Given the description of an element on the screen output the (x, y) to click on. 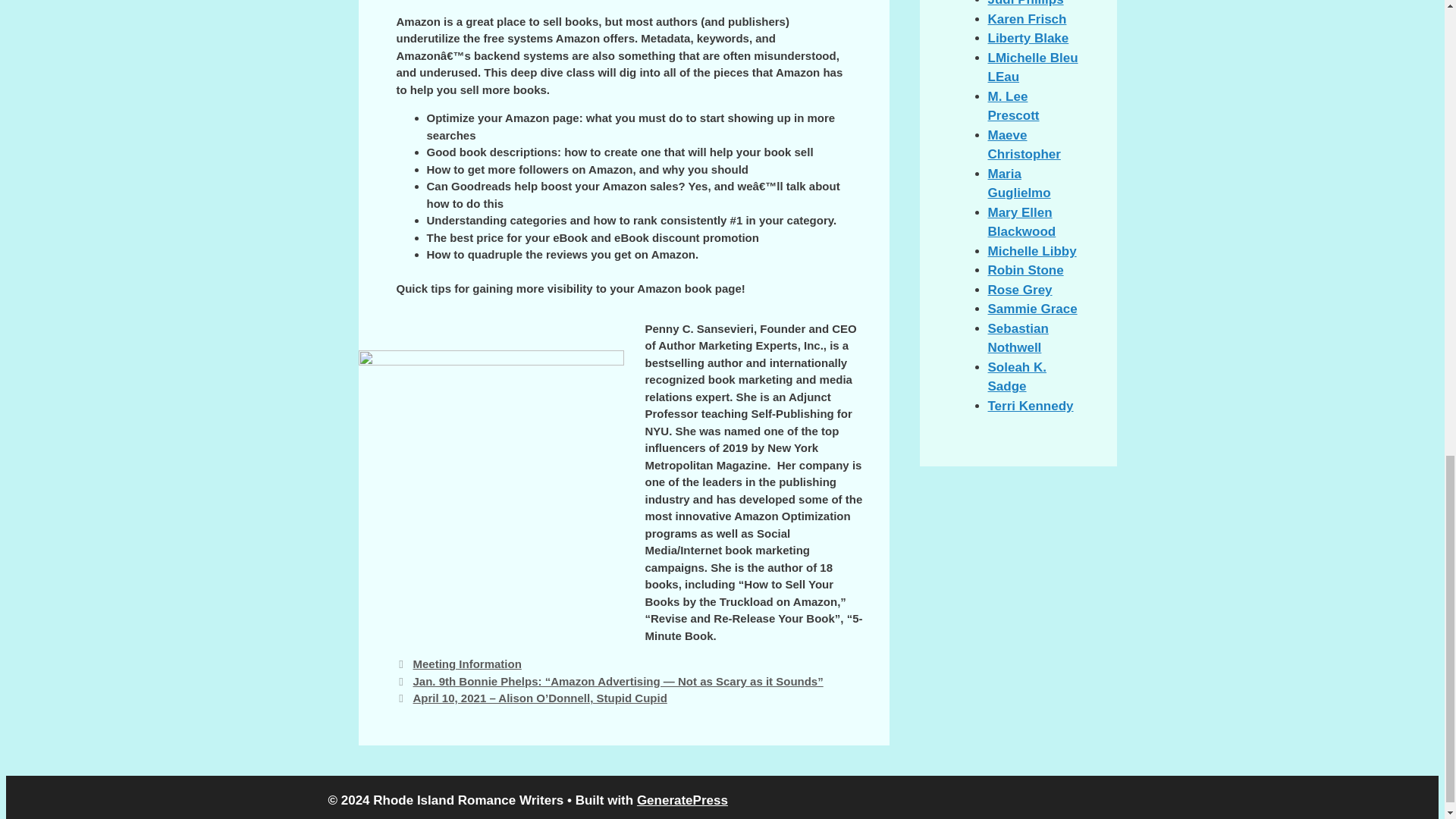
Meeting Information (466, 663)
Liberty Blake (1027, 38)
Judi Phillips (1024, 3)
Mary Ellen Blackwood (1021, 222)
Karen Frisch (1026, 19)
Robin Stone (1024, 269)
Maria Guglielmo (1018, 183)
Carolyn Sullivan (1027, 38)
Karen Dennen (1026, 19)
Rose Grey (1019, 289)
